Given the description of an element on the screen output the (x, y) to click on. 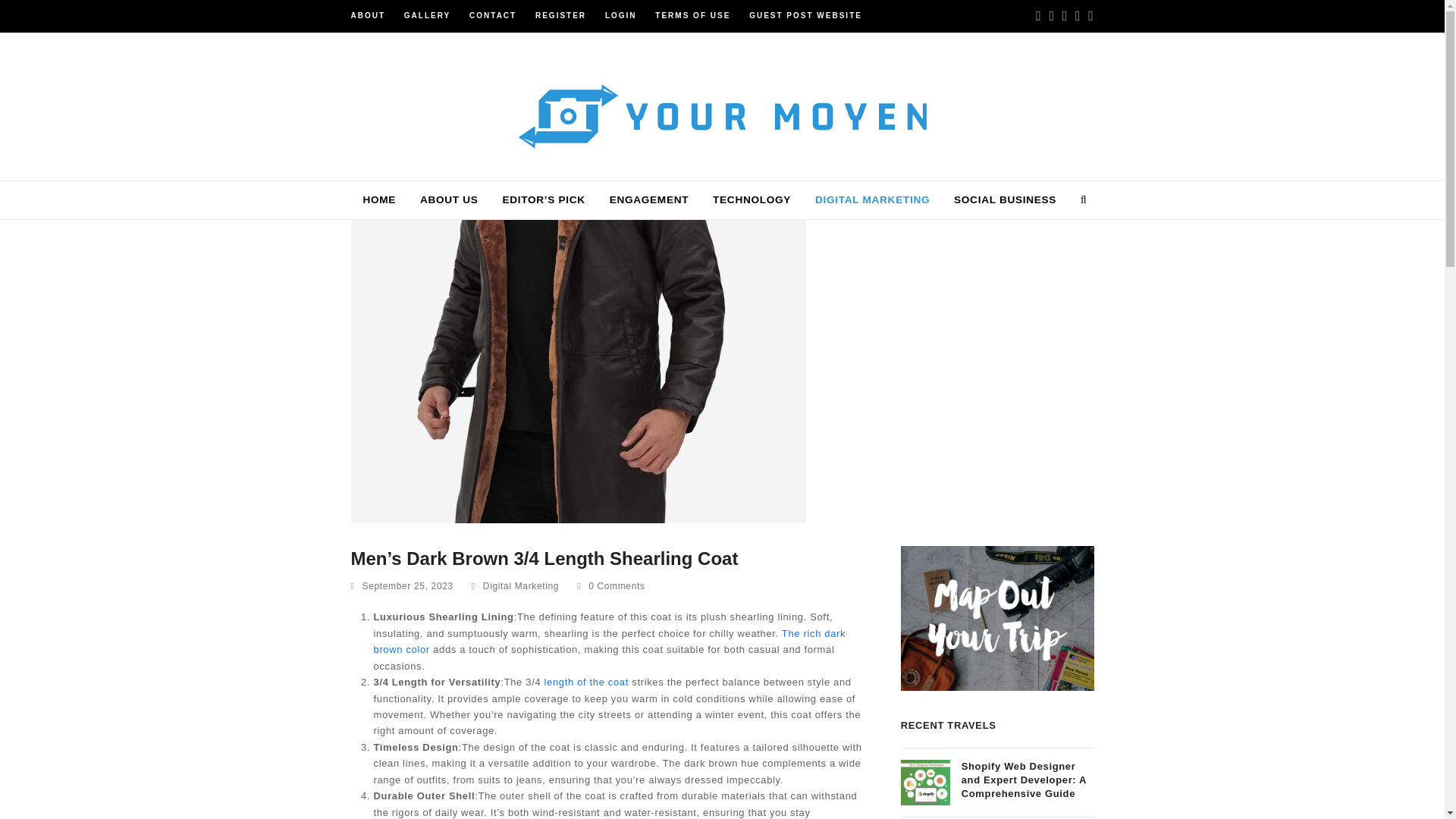
LOGIN (621, 15)
TECHNOLOGY (751, 199)
0 Comments (610, 586)
HOME (378, 199)
length of the coat (585, 681)
GUEST POST WEBSITE (805, 15)
ABOUT US (448, 199)
SOCIAL BUSINESS (1005, 199)
Digital Marketing (521, 585)
REGISTER (560, 15)
CONTACT (492, 15)
ABOUT (367, 15)
DIGITAL MARKETING (872, 199)
GALLERY (426, 15)
ENGAGEMENT (648, 199)
